Given the description of an element on the screen output the (x, y) to click on. 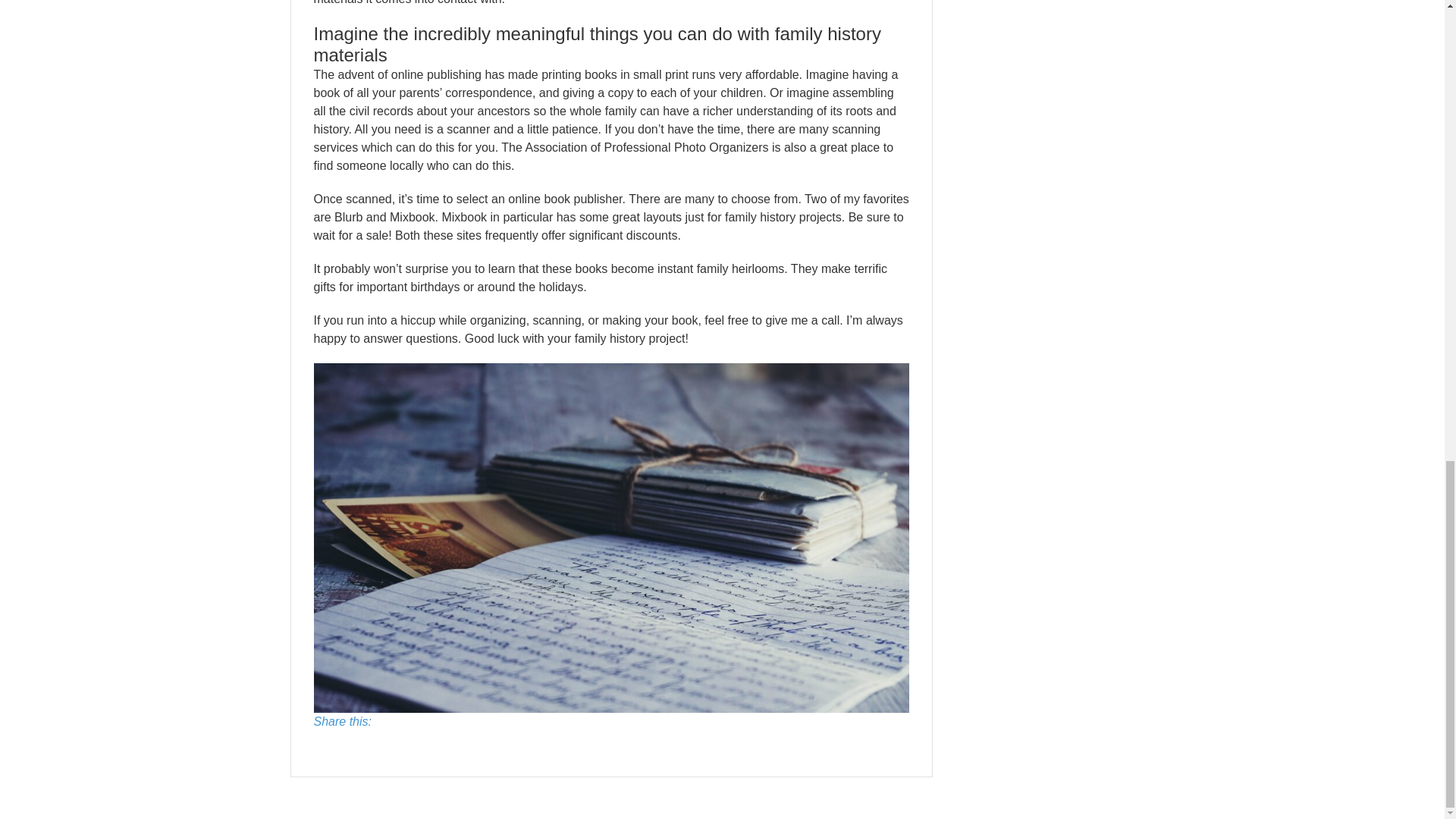
linkedin (437, 744)
twitter (402, 744)
google (366, 744)
facebook (331, 744)
